Given the description of an element on the screen output the (x, y) to click on. 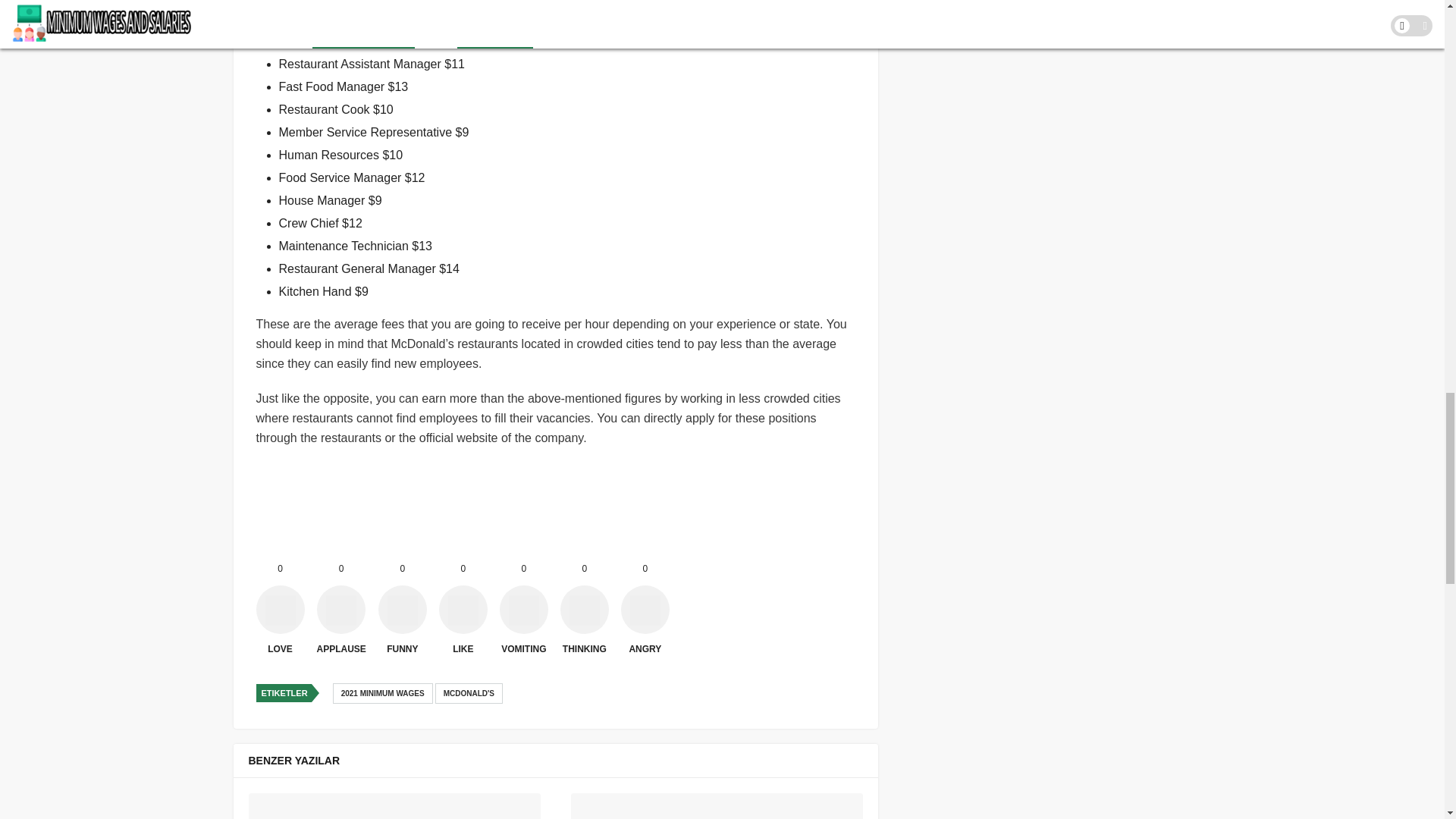
FUNNY (402, 610)
VOMITING (523, 610)
APPLAUSE (341, 610)
LOVE (279, 610)
LIKE (463, 610)
MCDONALD'S (468, 693)
2021 MINIMUM WAGES (382, 693)
